Given the description of an element on the screen output the (x, y) to click on. 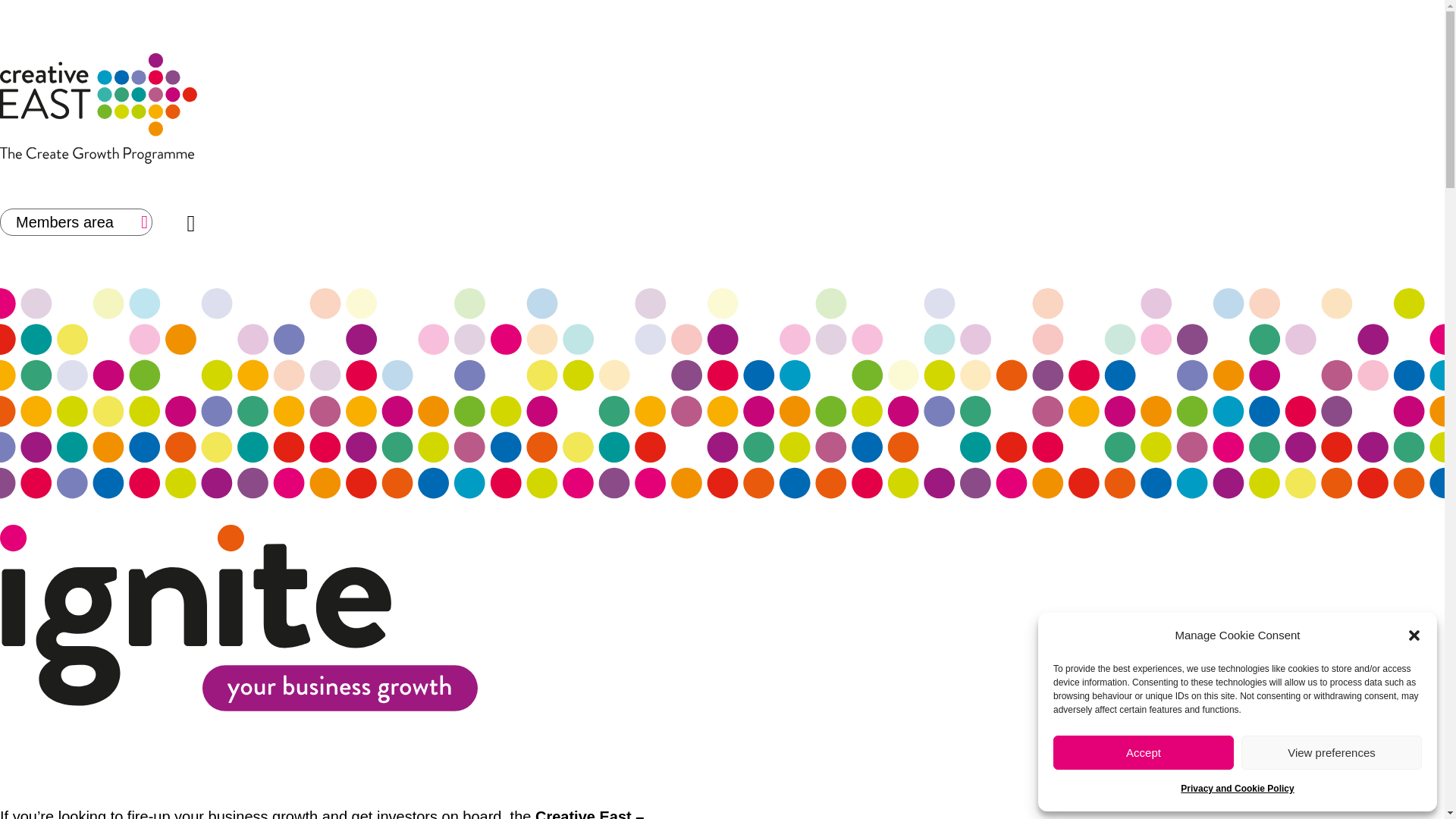
Link to home page (341, 109)
Members area (76, 221)
Privacy and Cookie Policy (1237, 788)
Accept (1142, 752)
View preferences (1331, 752)
